Given the description of an element on the screen output the (x, y) to click on. 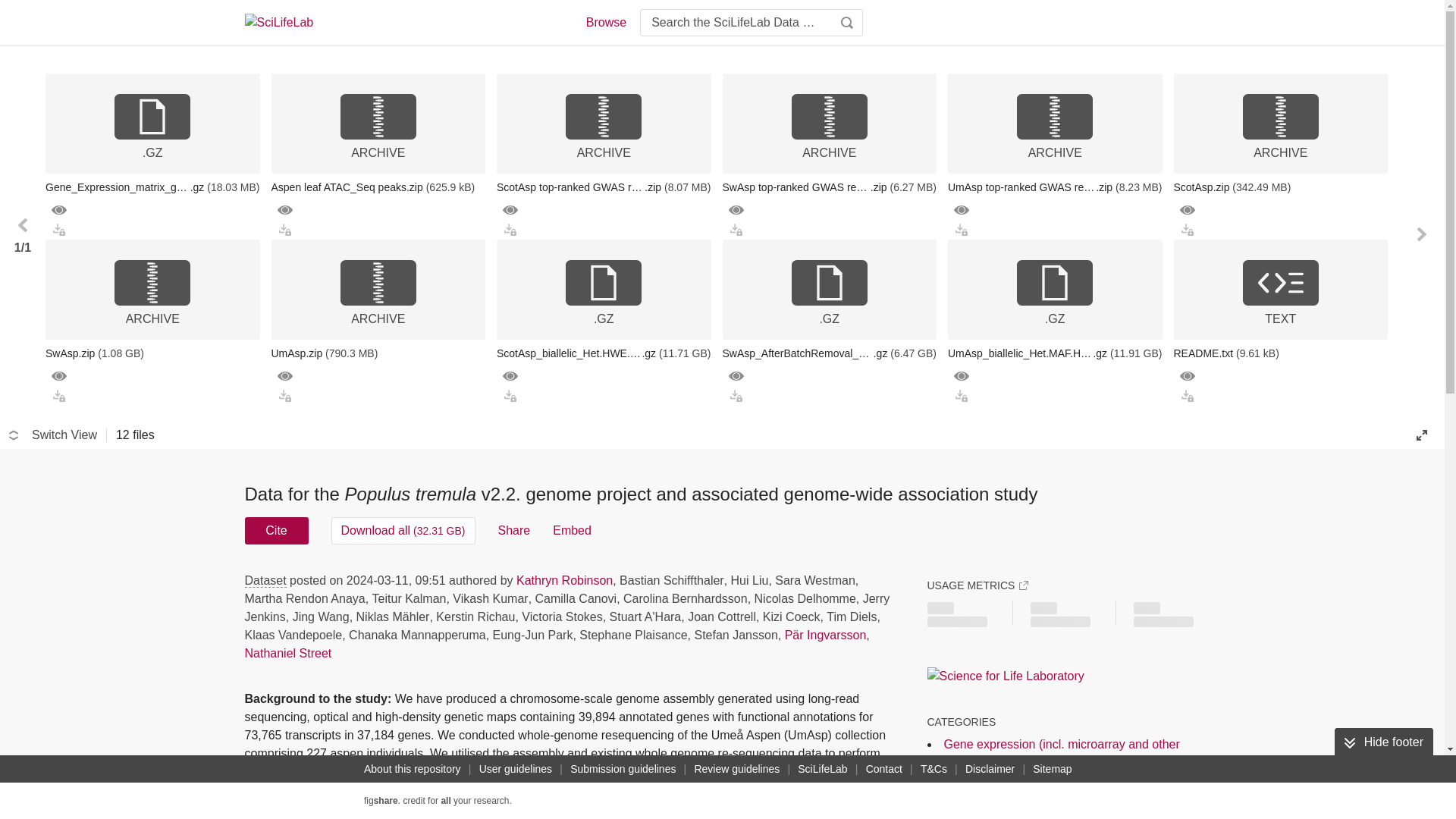
Browse (605, 22)
UmAsp.zip (378, 352)
ScotAsp top-ranked GWAS results.zip (603, 187)
README.txt (1281, 352)
ScotAsp.zip (1281, 187)
SwAsp top-ranked GWAS results.zip (829, 187)
SwAsp.zip (152, 352)
UmAsp top-ranked GWAS results.zip (1054, 187)
